Given the description of an element on the screen output the (x, y) to click on. 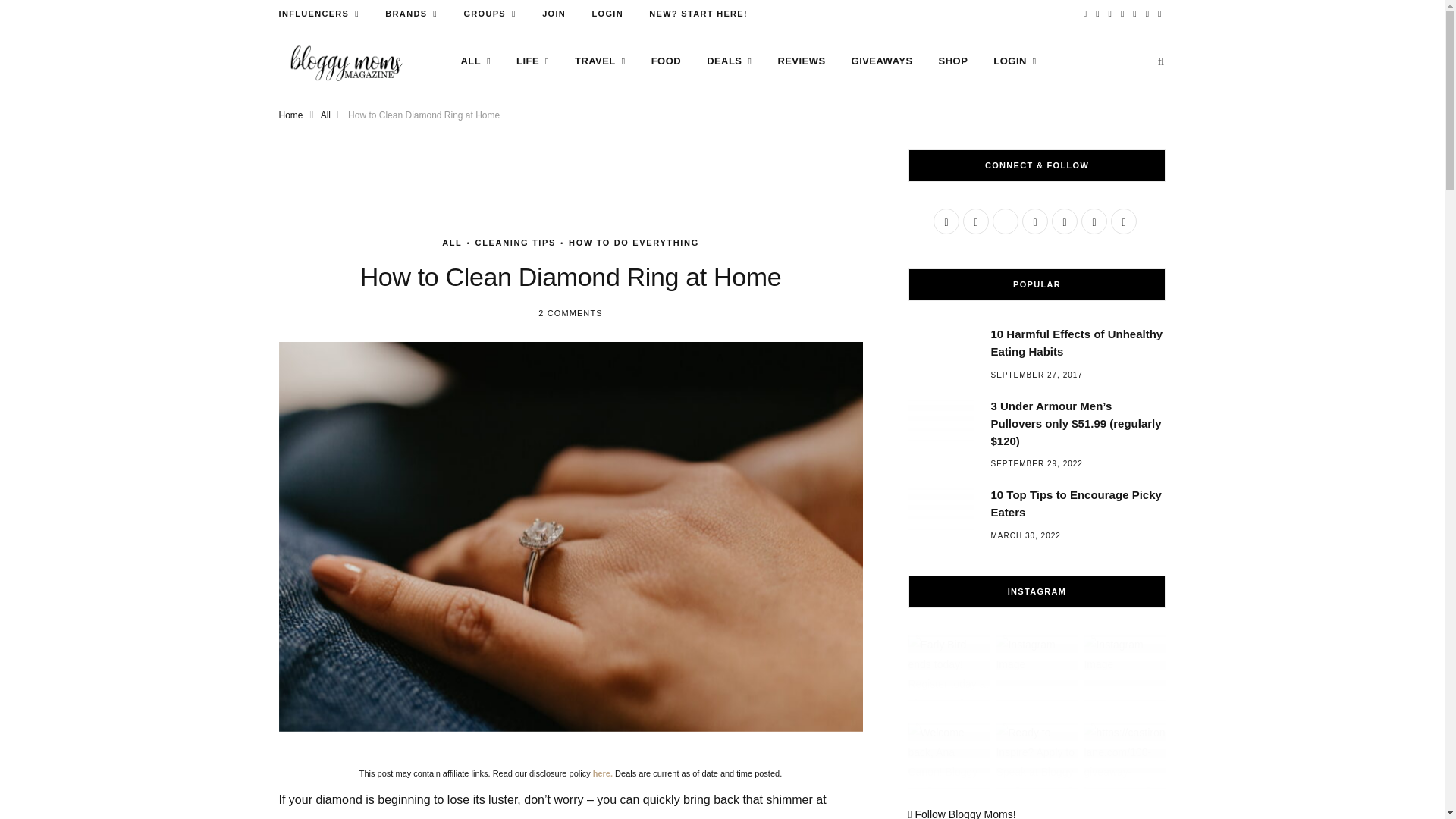
JOIN (553, 13)
BRANDS (411, 13)
LOGIN (606, 13)
NEW? START HERE! (697, 13)
GROUPS (489, 13)
Bloggy Moms Magazine (345, 62)
INFLUENCERS (317, 13)
